Given the description of an element on the screen output the (x, y) to click on. 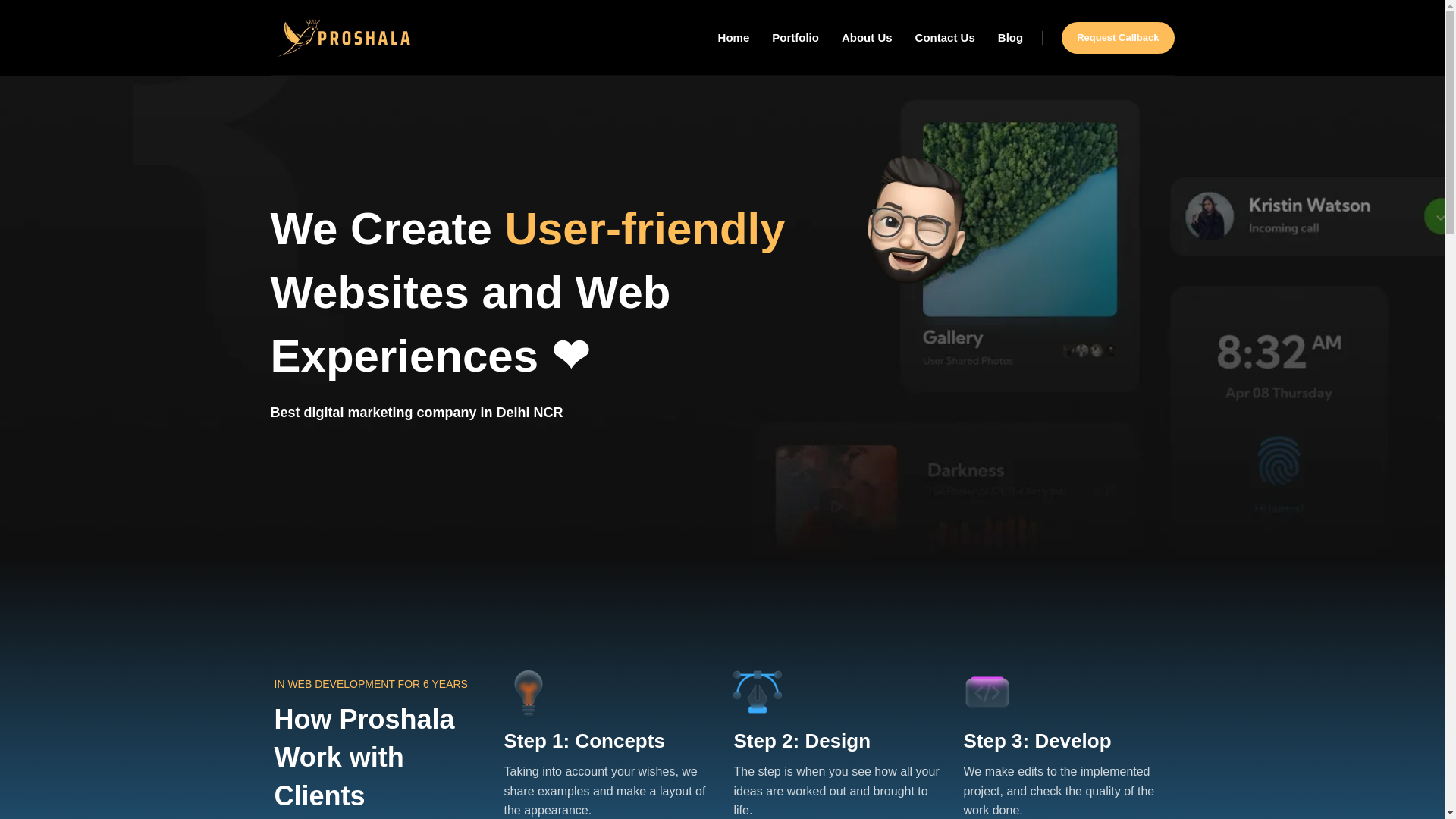
Home (733, 37)
Portfolio (794, 37)
Request Callback (1117, 37)
About Us (866, 37)
Contact Us (945, 37)
